Given the description of an element on the screen output the (x, y) to click on. 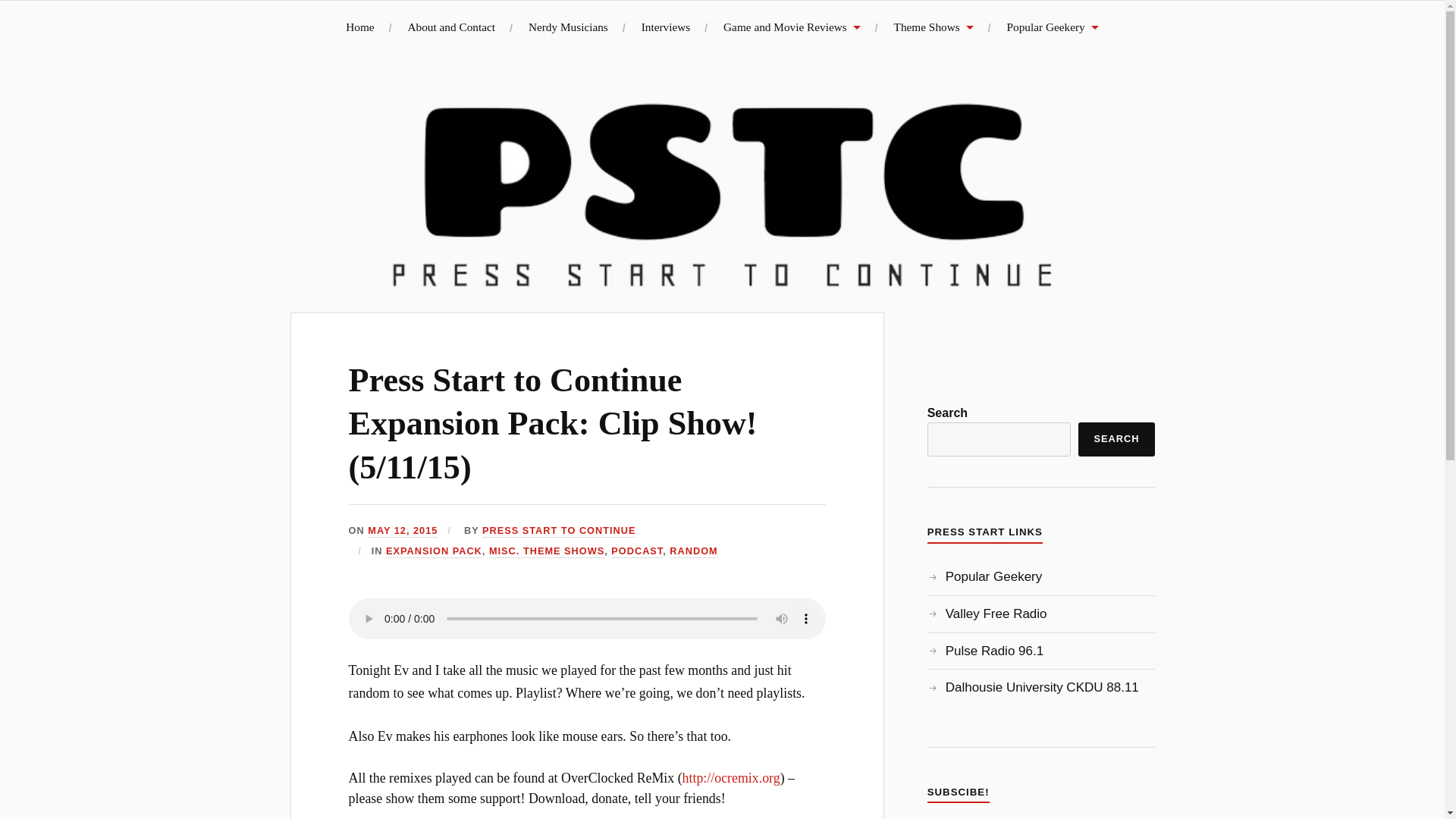
Nerdy Musicians (568, 27)
Theme Shows (933, 27)
Press Start to Continue (216, 42)
Interviews (666, 27)
Game and Movie Reviews (791, 27)
About and Contact (451, 27)
